Given the description of an element on the screen output the (x, y) to click on. 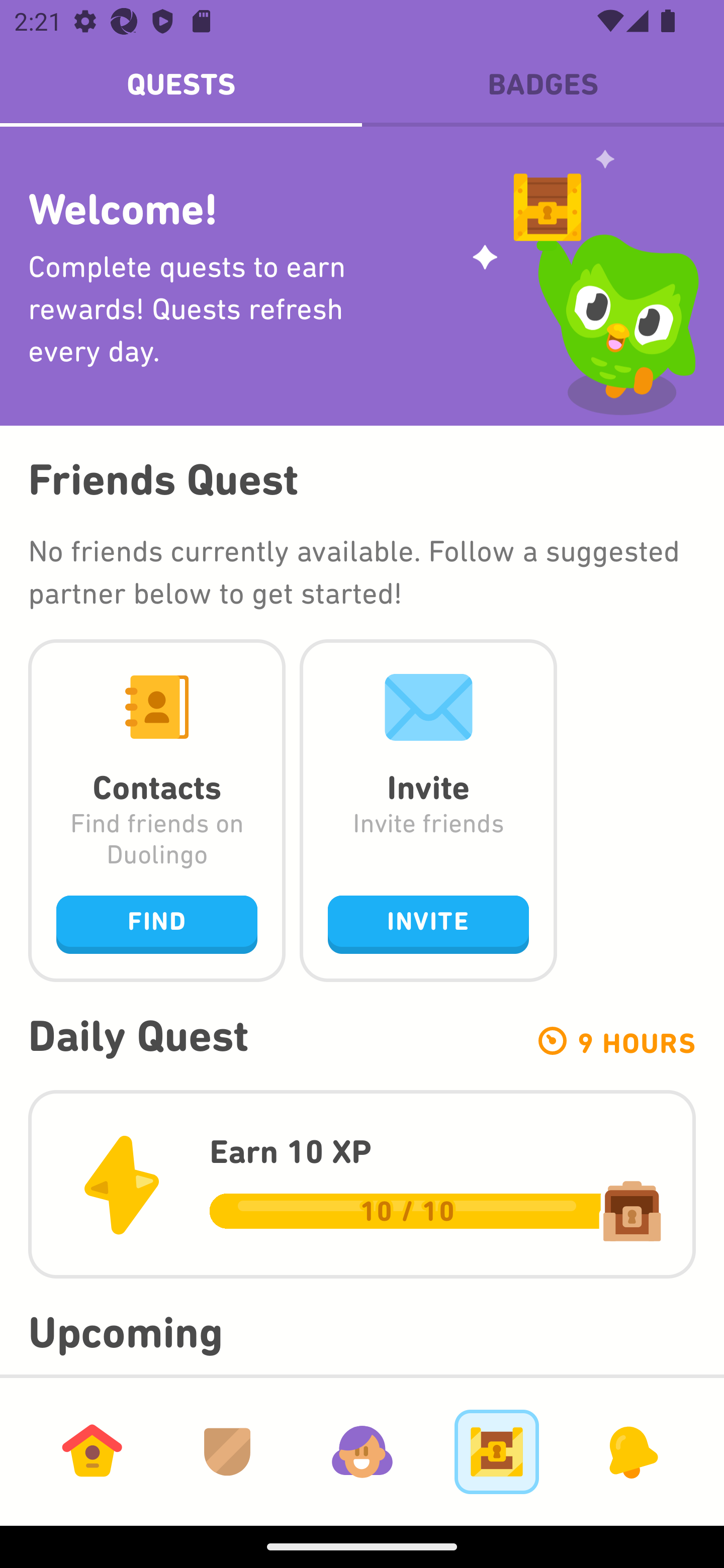
BADGES (543, 84)
FIND (156, 924)
INVITE (428, 924)
Learn Tab (91, 1451)
Leagues Tab (227, 1451)
Profile Tab (361, 1451)
Goals Tab (496, 1451)
News Tab (631, 1451)
